Given the description of an element on the screen output the (x, y) to click on. 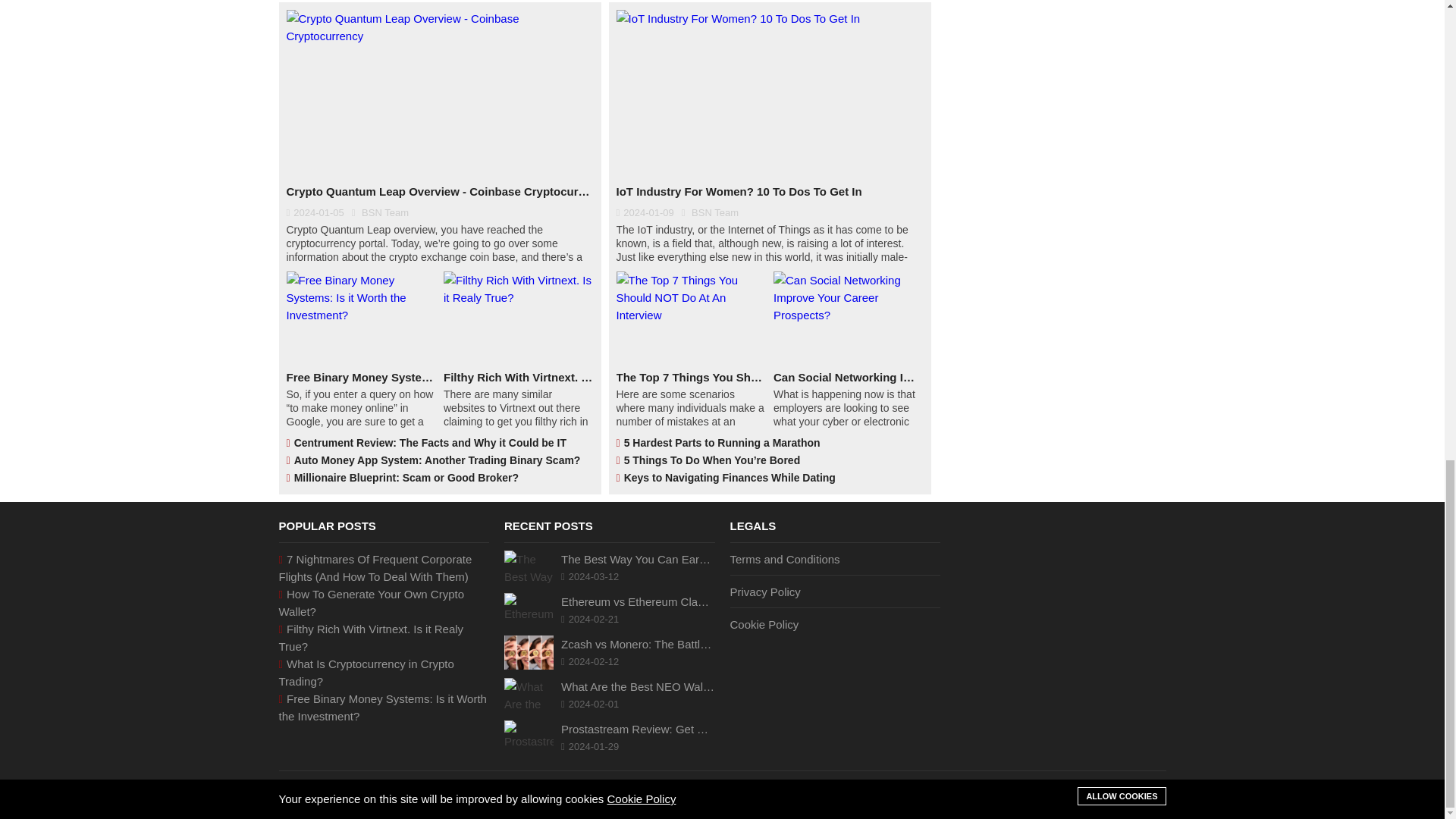
Crypto Quantum Leap Overview - Coinbase Cryptocurrency (440, 190)
Cookie Policy (834, 620)
Free Binary Money Systems: Is it Worth the Investment? (361, 376)
Terms and Conditions (834, 562)
Privacy Policy (834, 591)
